Given the description of an element on the screen output the (x, y) to click on. 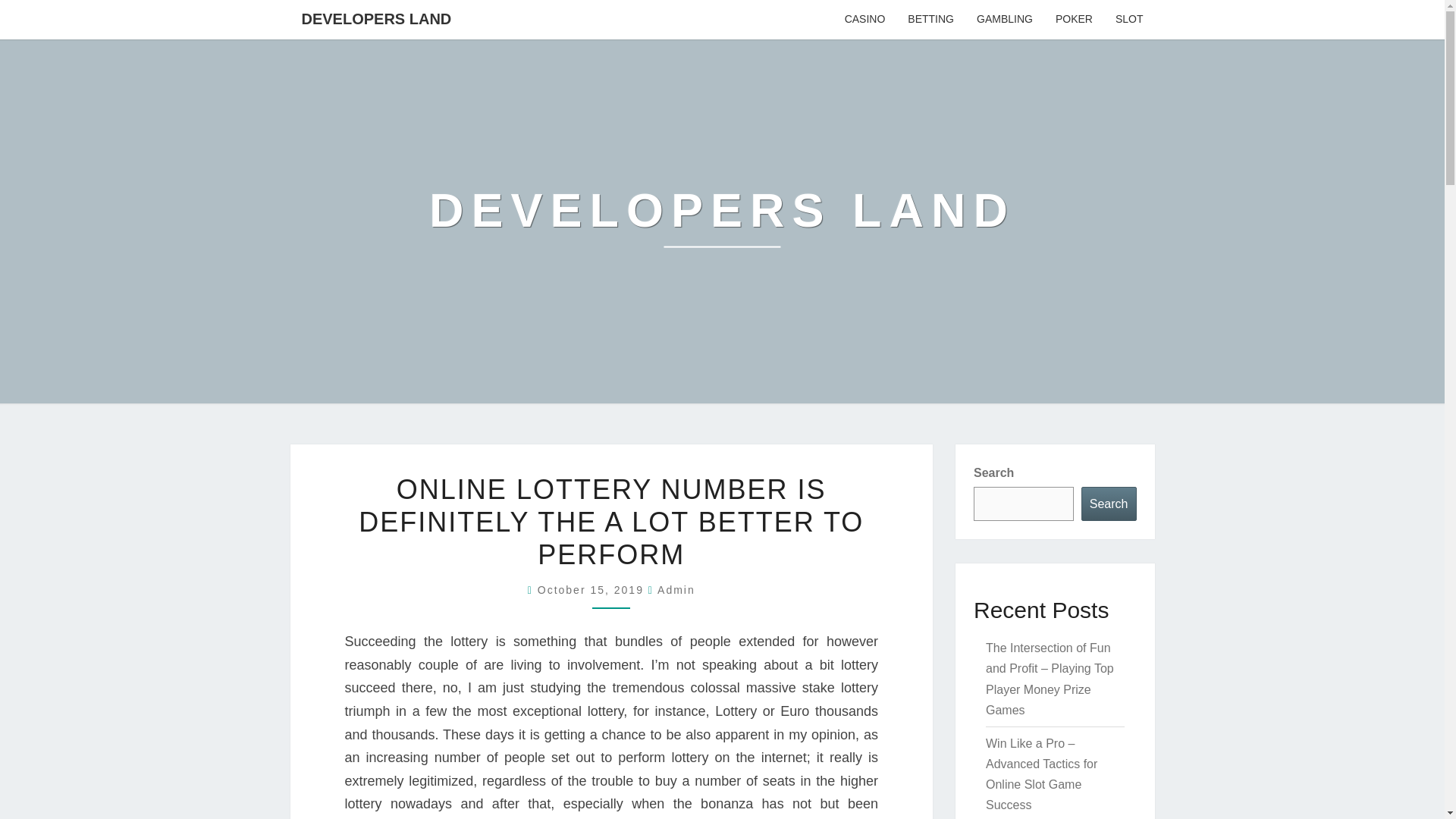
DEVELOPERS LAND (376, 18)
Developers Land (721, 220)
10:11 am (592, 589)
GAMBLING (1004, 19)
October 15, 2019 (592, 589)
Admin (676, 589)
BETTING (930, 19)
POKER (1073, 19)
Search (1109, 503)
SLOT (1128, 19)
